Given the description of an element on the screen output the (x, y) to click on. 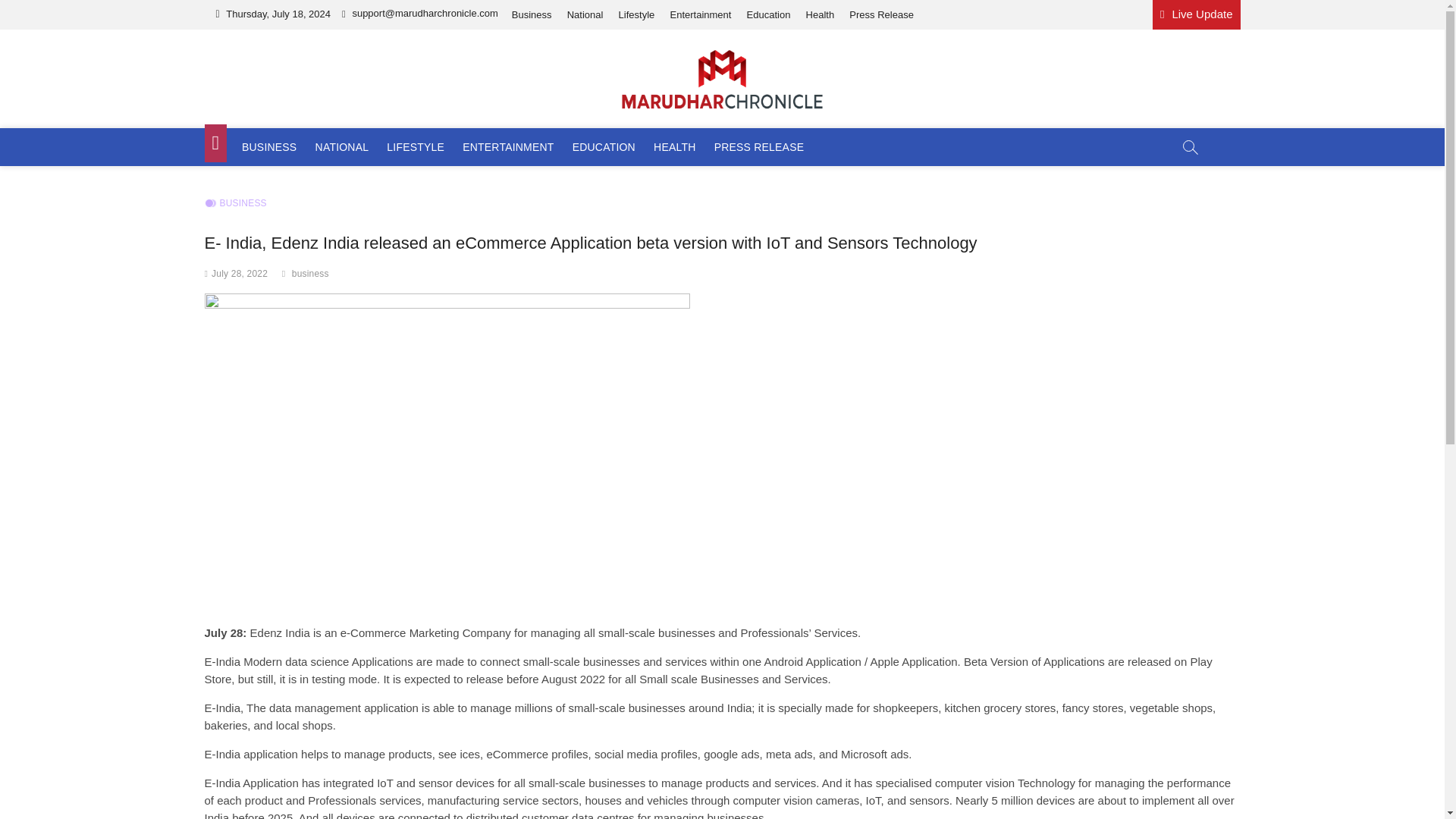
HEALTH (674, 146)
ENTERTAINMENT (507, 146)
Marudhar Chronicle (331, 129)
Business (531, 14)
BUSINESS (235, 203)
Lifestyle (636, 14)
Health (820, 14)
Live Update (1196, 14)
PRESS RELEASE (759, 146)
EDUCATION (603, 146)
Mail Us (419, 12)
National (585, 14)
Entertainment (699, 14)
July 28, 2022 (239, 273)
NATIONAL (342, 146)
